Given the description of an element on the screen output the (x, y) to click on. 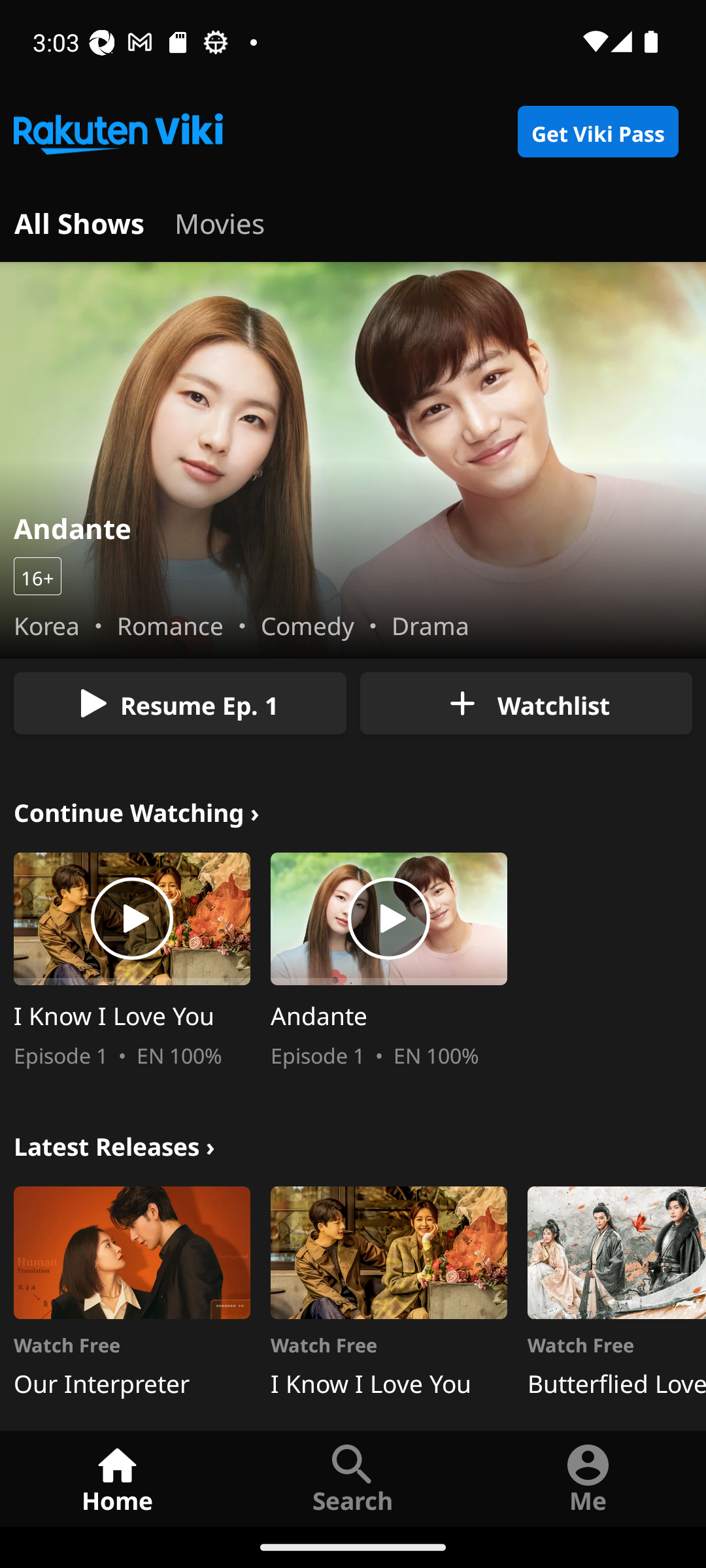
Get Viki Pass (597, 131)
home_tab_movies Movies (219, 220)
Resume Ep. 1 home_billboard_play_button (179, 702)
Watchlist home_billboard_add_to_watchlist_button (526, 702)
Continue Watching › continue_watching (136, 809)
Latest Releases › all_new (114, 1143)
Search (352, 1478)
Me (588, 1478)
